Given the description of an element on the screen output the (x, y) to click on. 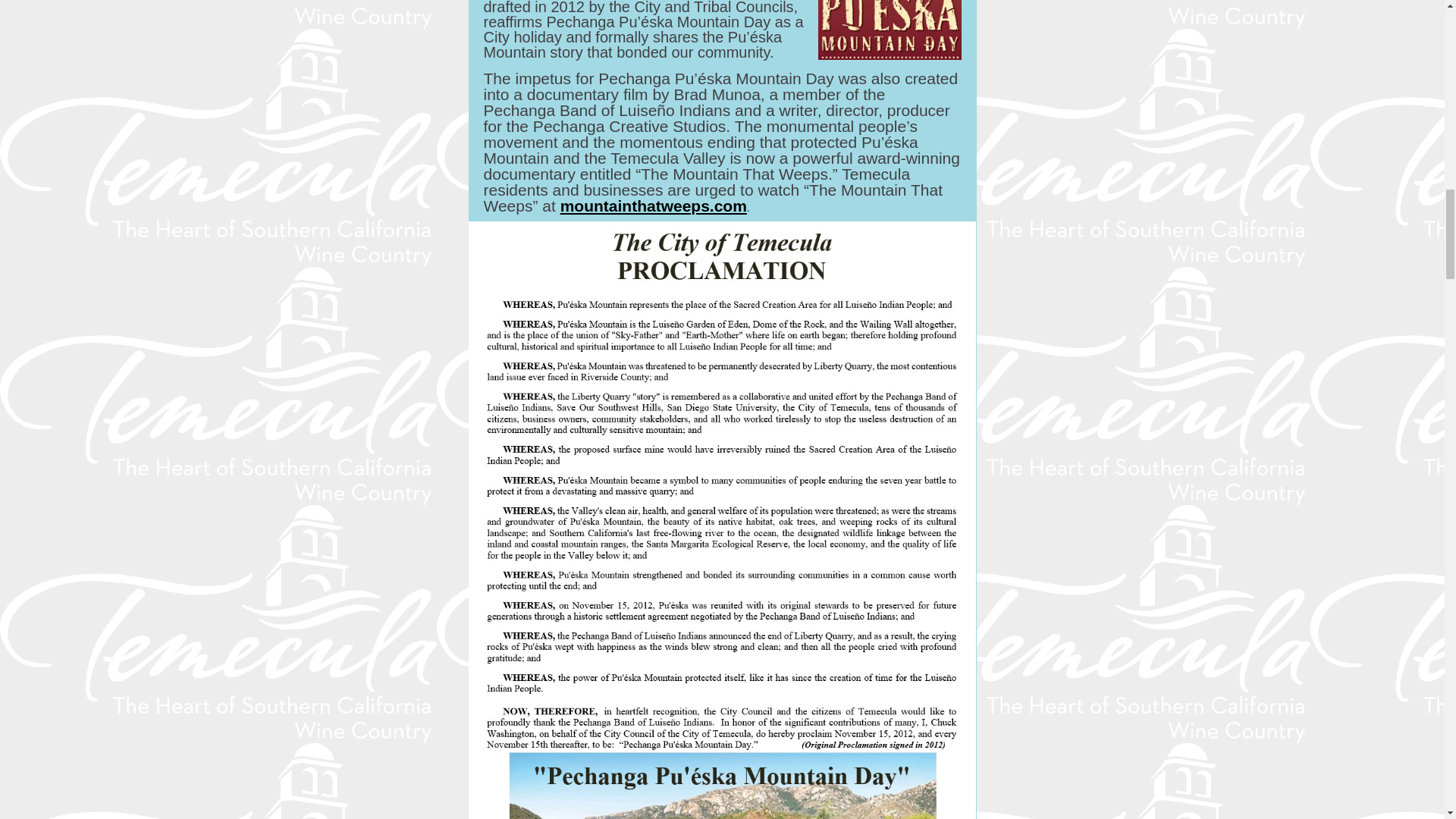
mountainthatweeps.com (653, 205)
